Given the description of an element on the screen output the (x, y) to click on. 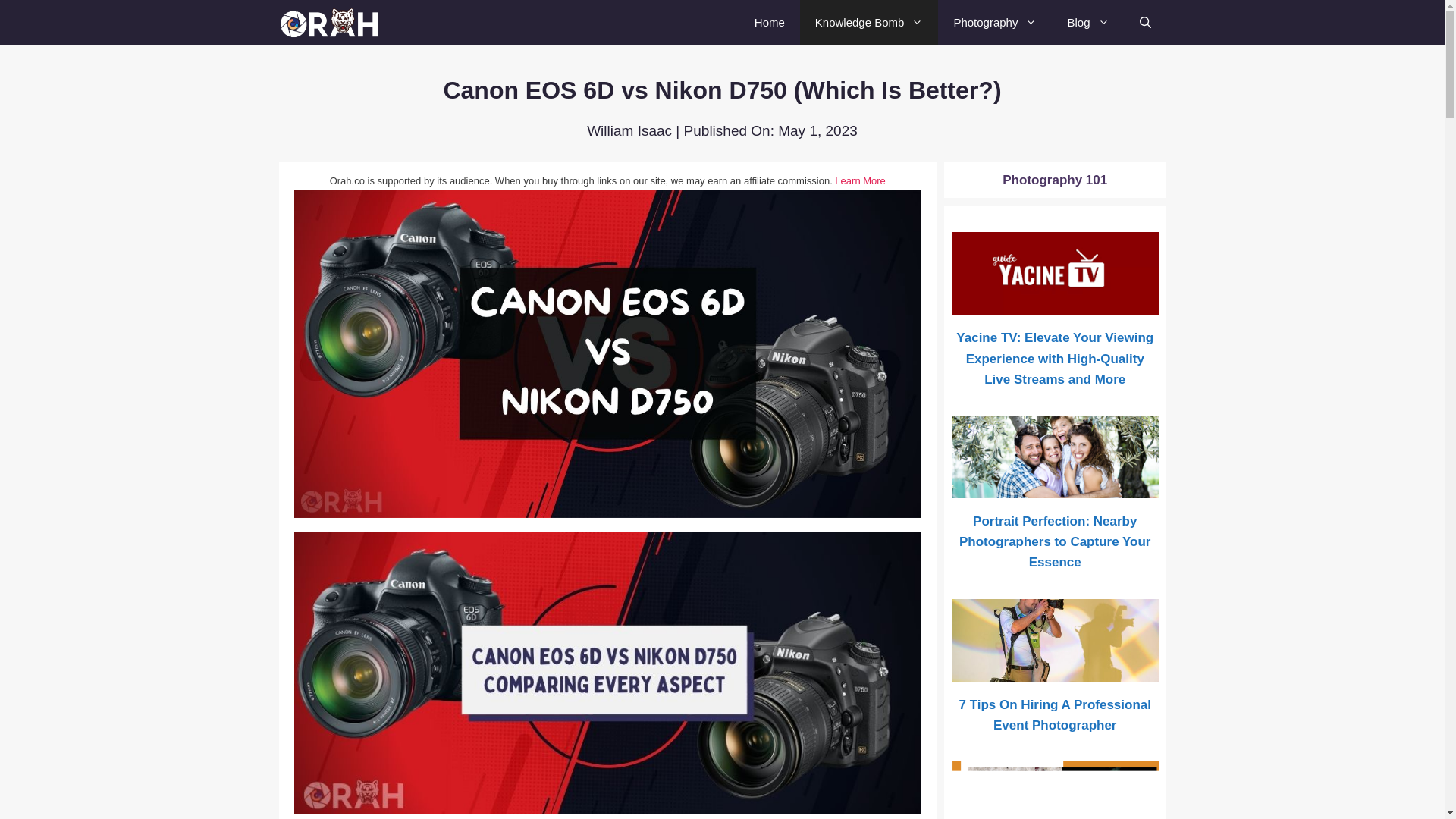
Orah (335, 22)
7 Tips On Hiring A Professional Event Photographer (1055, 629)
View all posts by William Isaac (628, 130)
Home (769, 22)
Orah (331, 22)
Knowledge Bomb (869, 22)
